Given the description of an element on the screen output the (x, y) to click on. 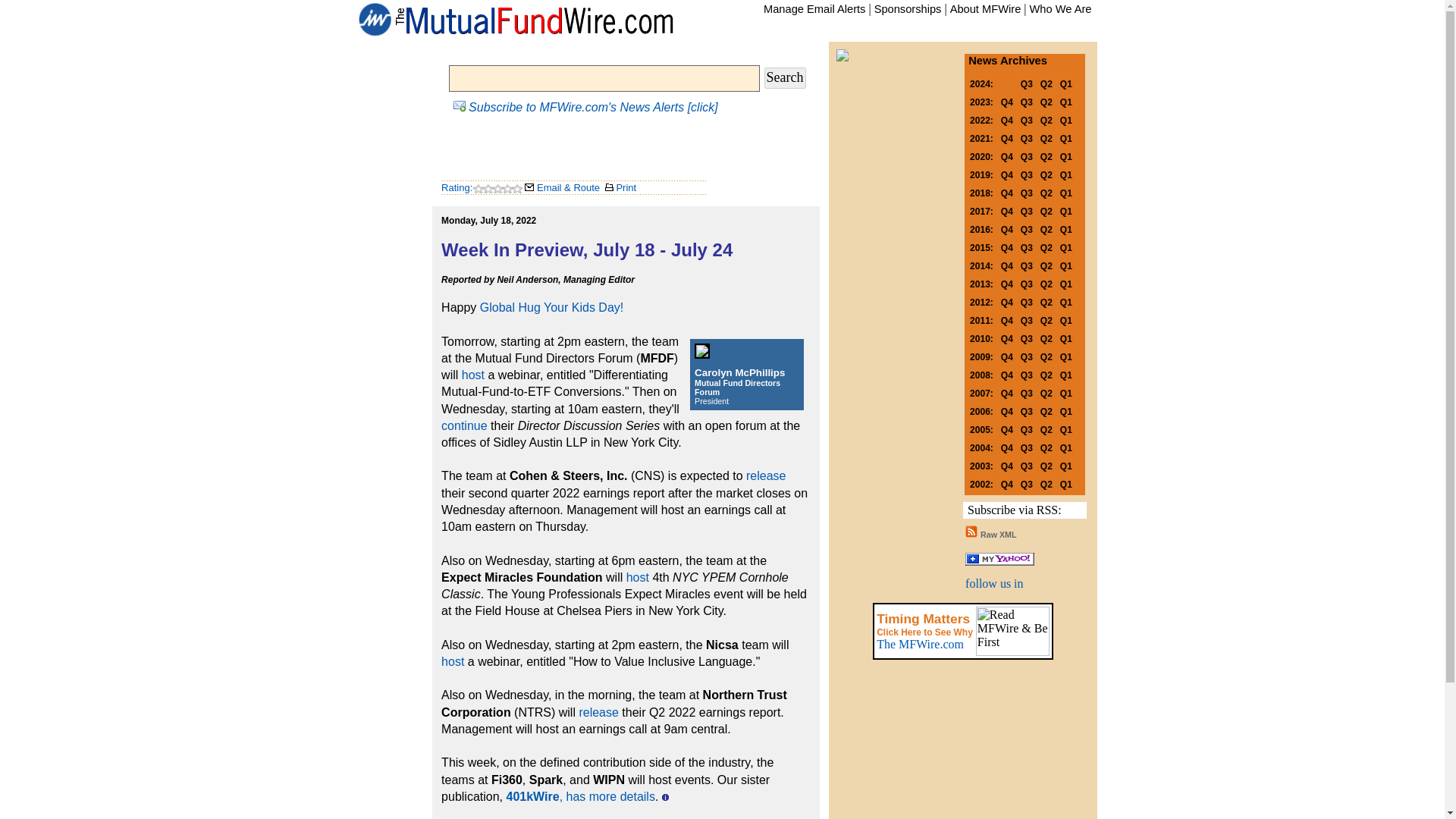
release (597, 712)
Q2 (1046, 101)
host (472, 374)
Sponsorships (908, 8)
Print (620, 187)
Q2 (1046, 119)
Q1 (1065, 82)
Q4 (1007, 101)
Global Hug Your Kids Day! (551, 307)
host (637, 576)
